Given the description of an element on the screen output the (x, y) to click on. 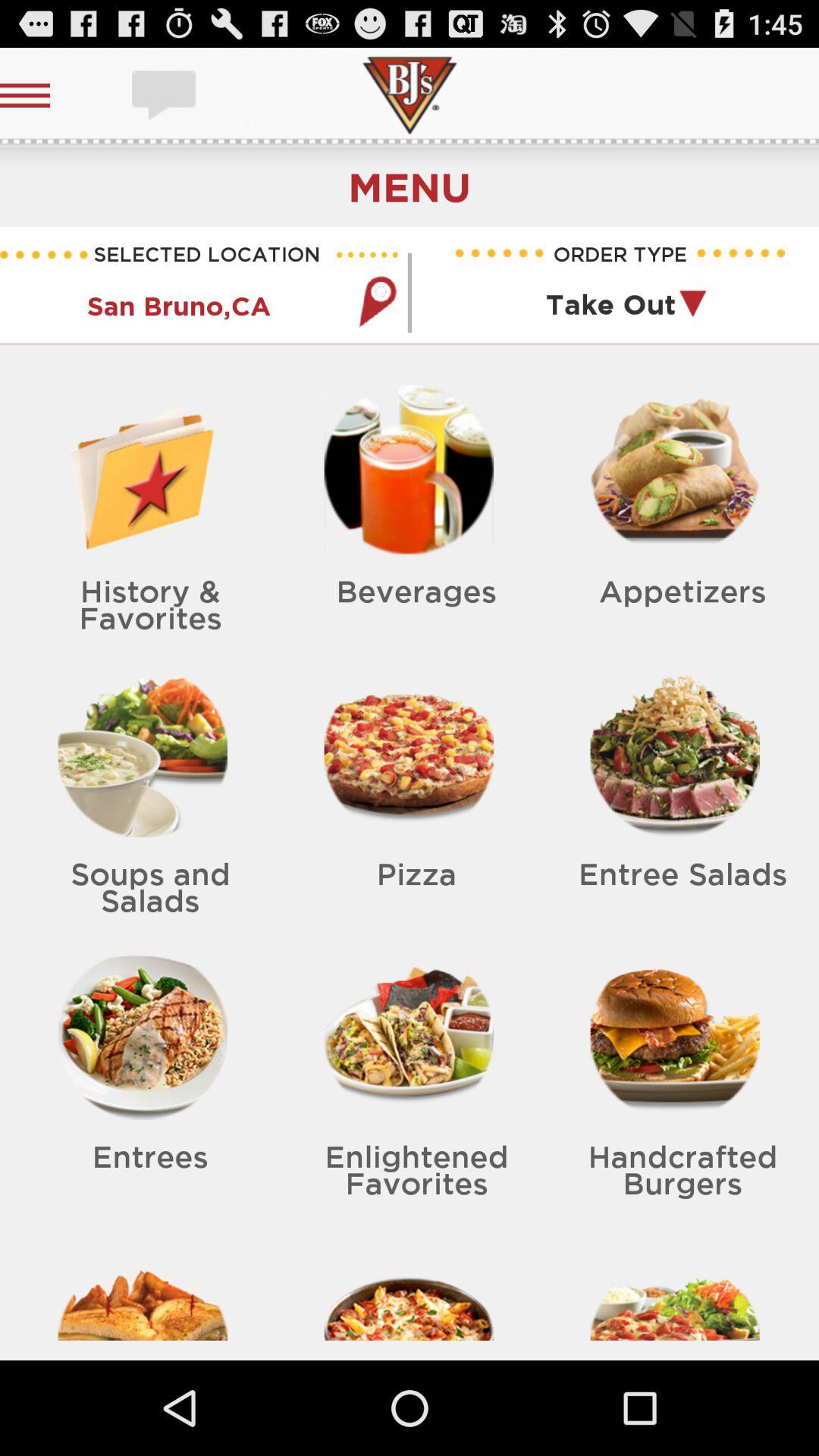
message chat button (165, 95)
